Given the description of an element on the screen output the (x, y) to click on. 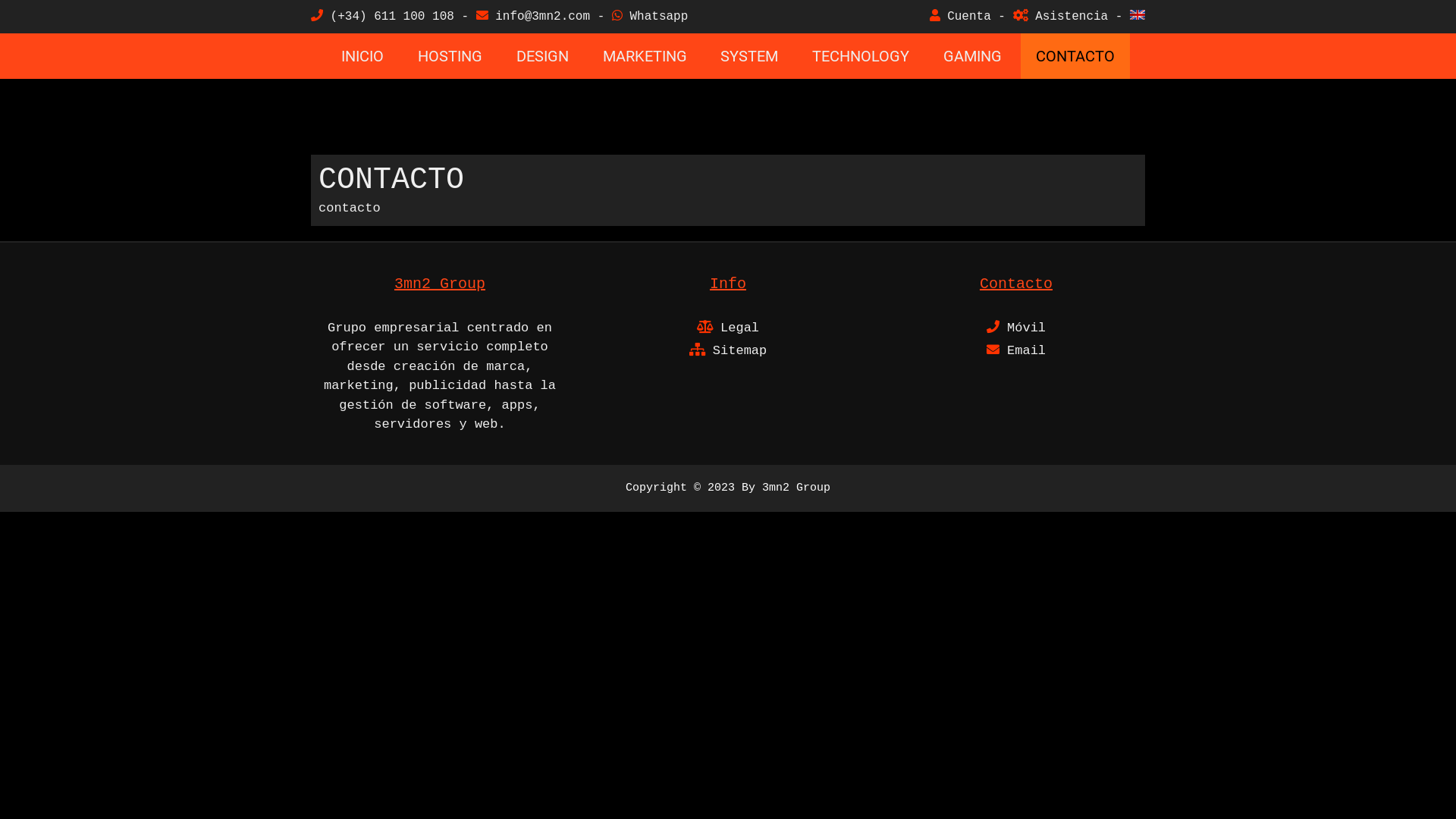
SYSTEM Element type: text (749, 55)
Sitemap Element type: text (728, 350)
HOSTING Element type: text (449, 55)
Whatsapp Element type: text (649, 16)
CONTACTO Element type: text (1074, 55)
INICIO Element type: text (362, 55)
(+34) 611 100 108 Element type: text (382, 16)
TECHNOLOGY Element type: text (860, 55)
English Element type: hover (1137, 14)
Cuenta Element type: text (960, 16)
GAMING Element type: text (972, 55)
info@3mn2.com Element type: text (532, 16)
MARKETING Element type: text (644, 55)
Asistencia Element type: text (1060, 16)
Email Element type: text (1015, 350)
Legal Element type: text (727, 327)
DESIGN Element type: text (542, 55)
